Given the description of an element on the screen output the (x, y) to click on. 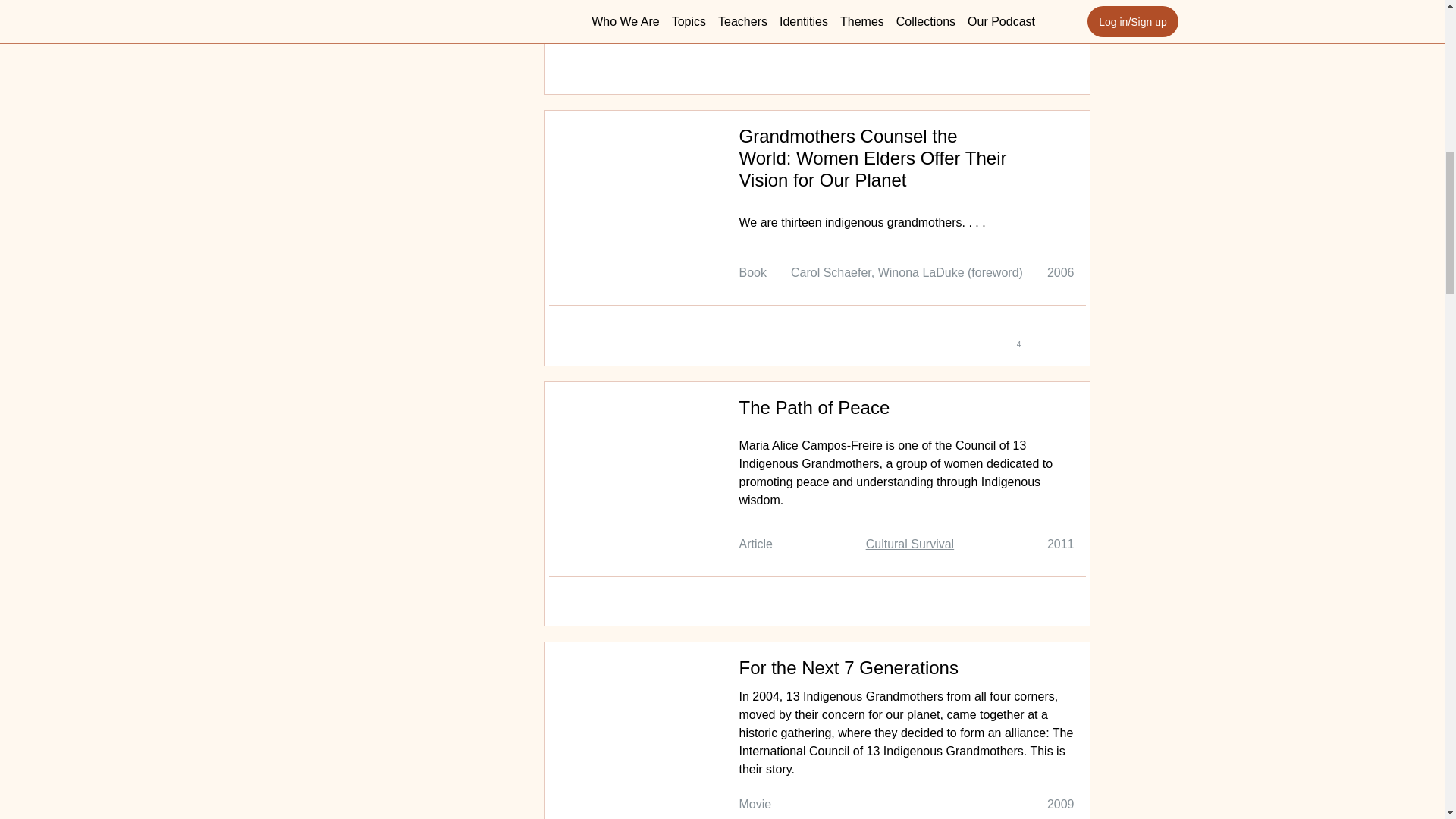
Share (1043, 602)
Share (1043, 69)
Share (1043, 330)
More (368, 5)
